Given the description of an element on the screen output the (x, y) to click on. 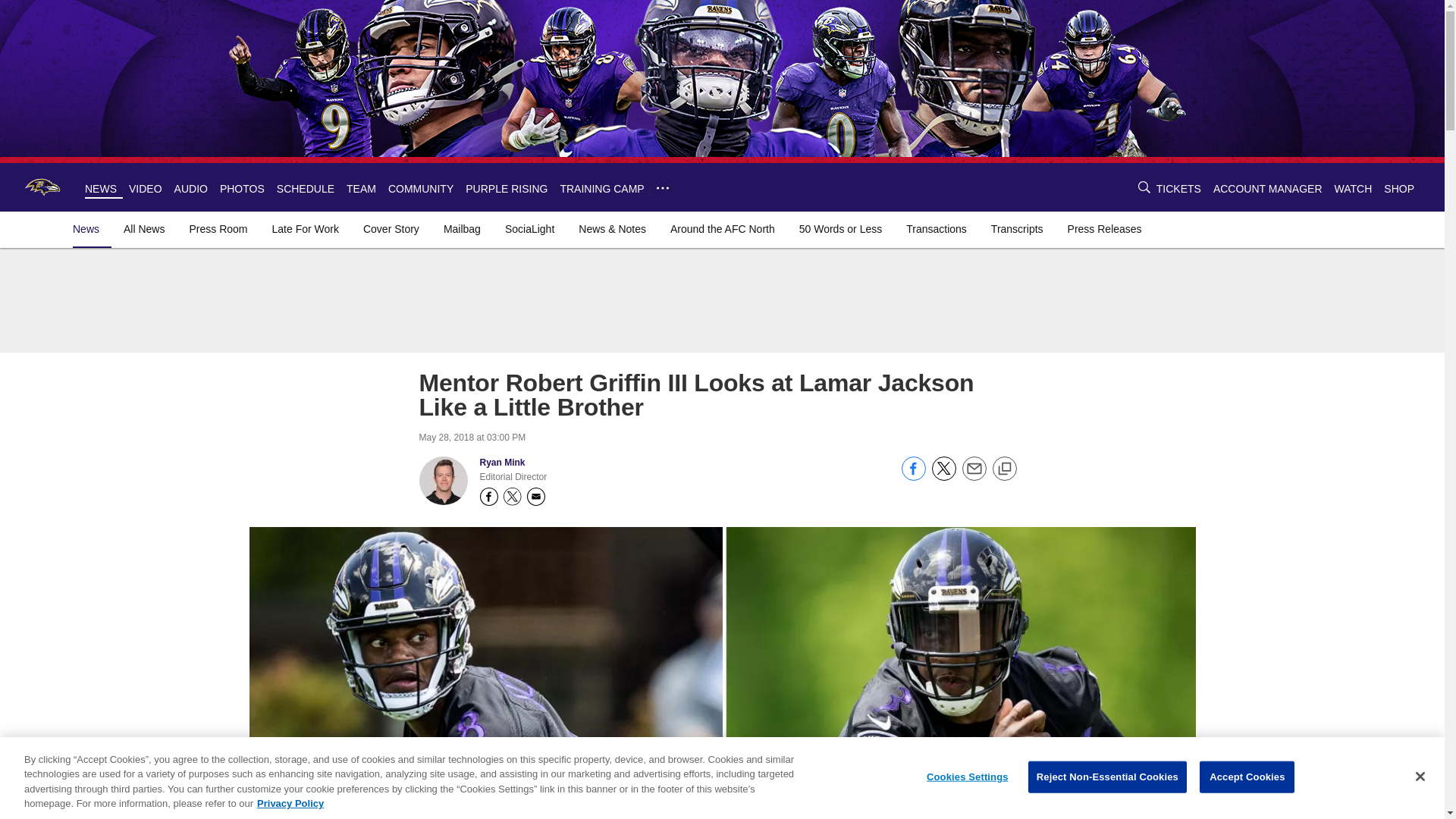
SCHEDULE (305, 188)
TRAINING CAMP (601, 188)
AUDIO (191, 188)
TEAM (360, 188)
NEWS (100, 188)
Cover Story (390, 228)
Link to club's homepage (42, 186)
SociaLight (529, 228)
Mailbag (462, 228)
All News (143, 228)
TRAINING CAMP (601, 188)
Late For Work (305, 228)
50 Words or Less (840, 228)
PHOTOS (241, 188)
WATCH (1354, 188)
